Given the description of an element on the screen output the (x, y) to click on. 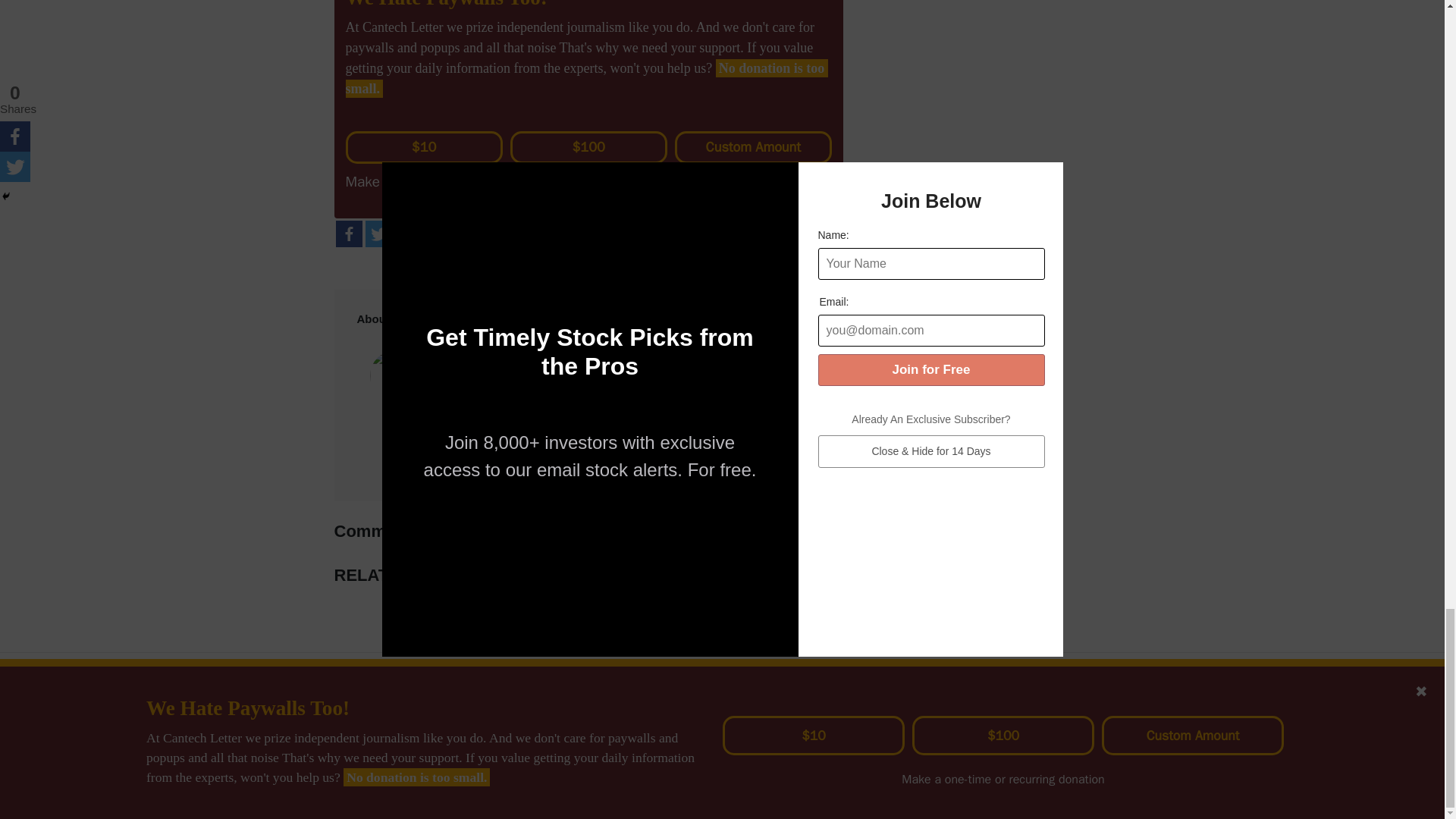
Twitter (378, 233)
Facebook (347, 233)
More (407, 233)
Total Shares (443, 234)
Custom Amount (753, 147)
